Given the description of an element on the screen output the (x, y) to click on. 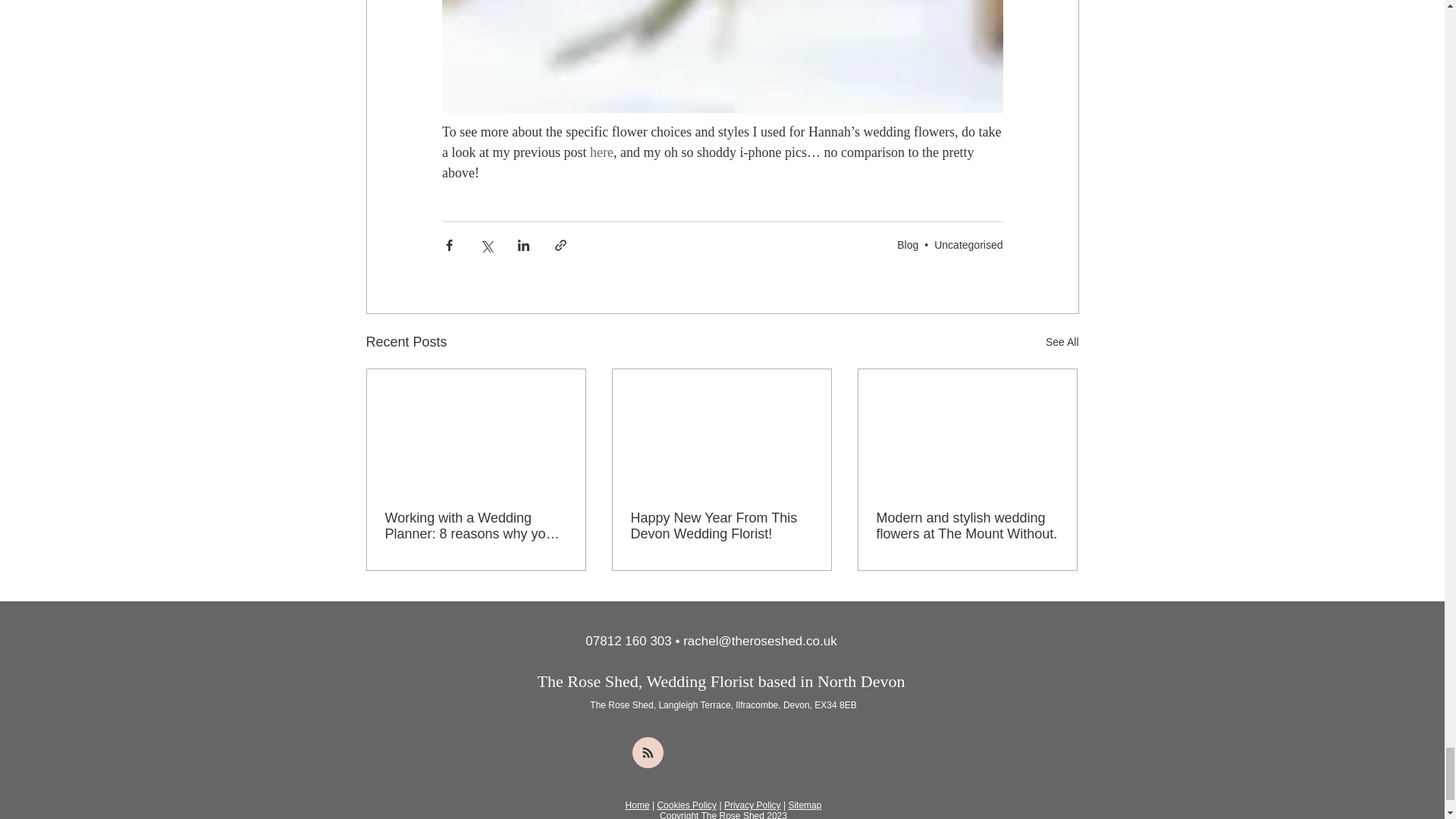
Blog (907, 244)
Uncategorised (968, 244)
07812 160 303 (628, 640)
See All (1061, 341)
Modern and stylish wedding flowers at The Mount Without. (967, 526)
Happy New Year From This Devon Wedding Florist! (721, 526)
here (600, 151)
